Given the description of an element on the screen output the (x, y) to click on. 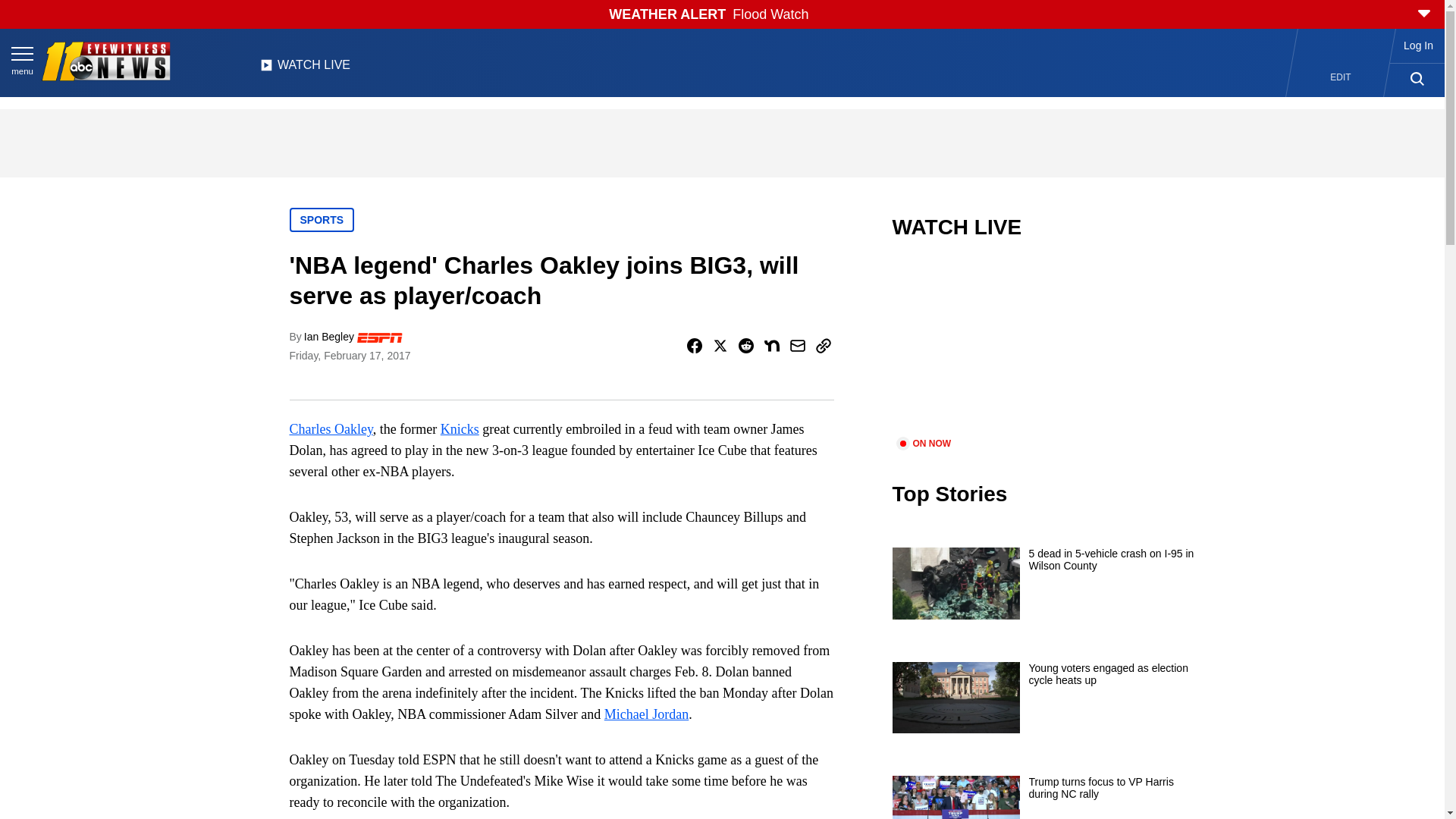
WATCH LIVE (305, 69)
EDIT (1340, 77)
video.title (1043, 347)
